Given the description of an element on the screen output the (x, y) to click on. 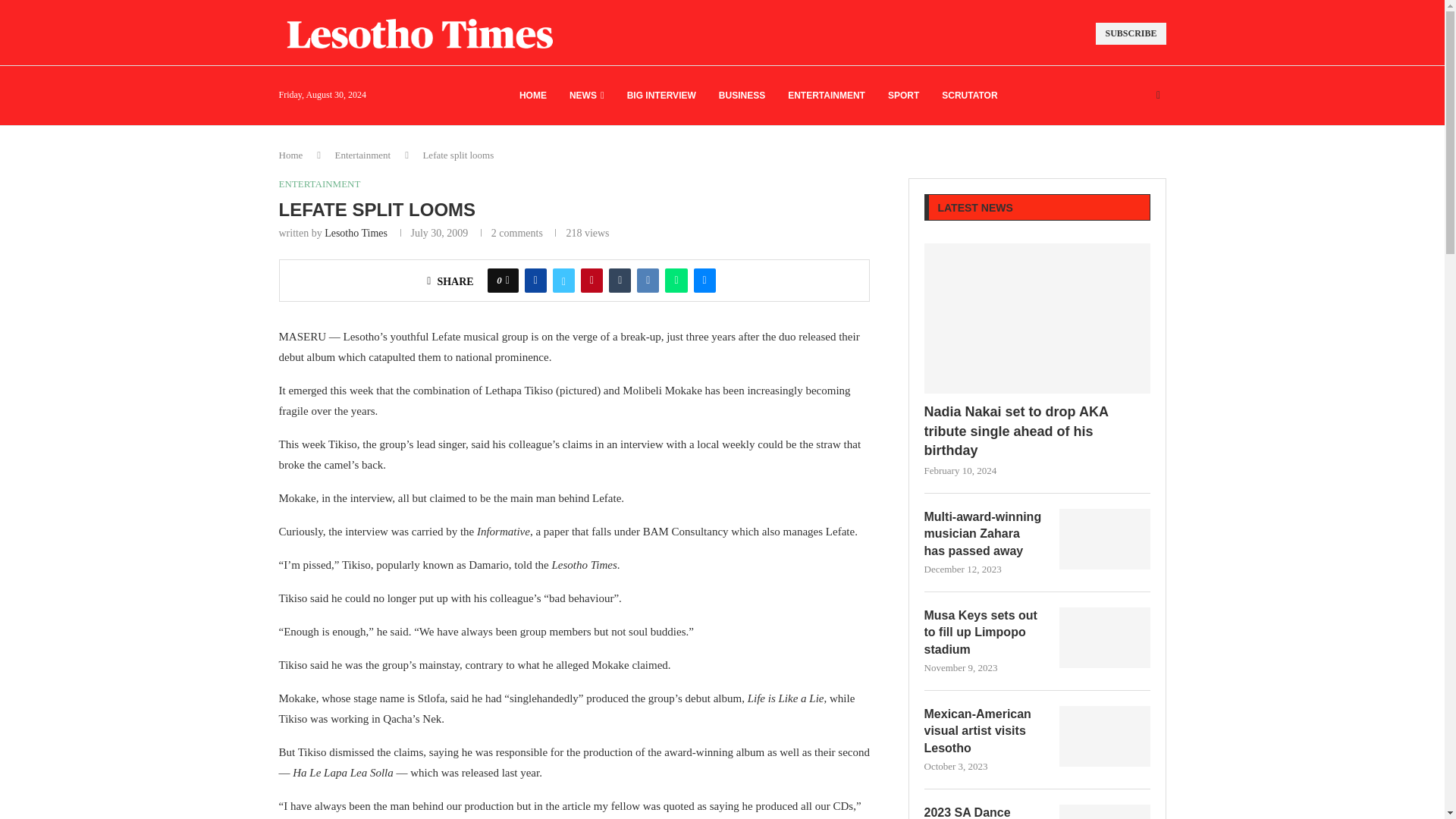
ENTERTAINMENT (825, 95)
BIG INTERVIEW (661, 95)
SCRUTATOR (969, 95)
BUSINESS (742, 95)
SUBSCRIBE (1131, 33)
